Given the description of an element on the screen output the (x, y) to click on. 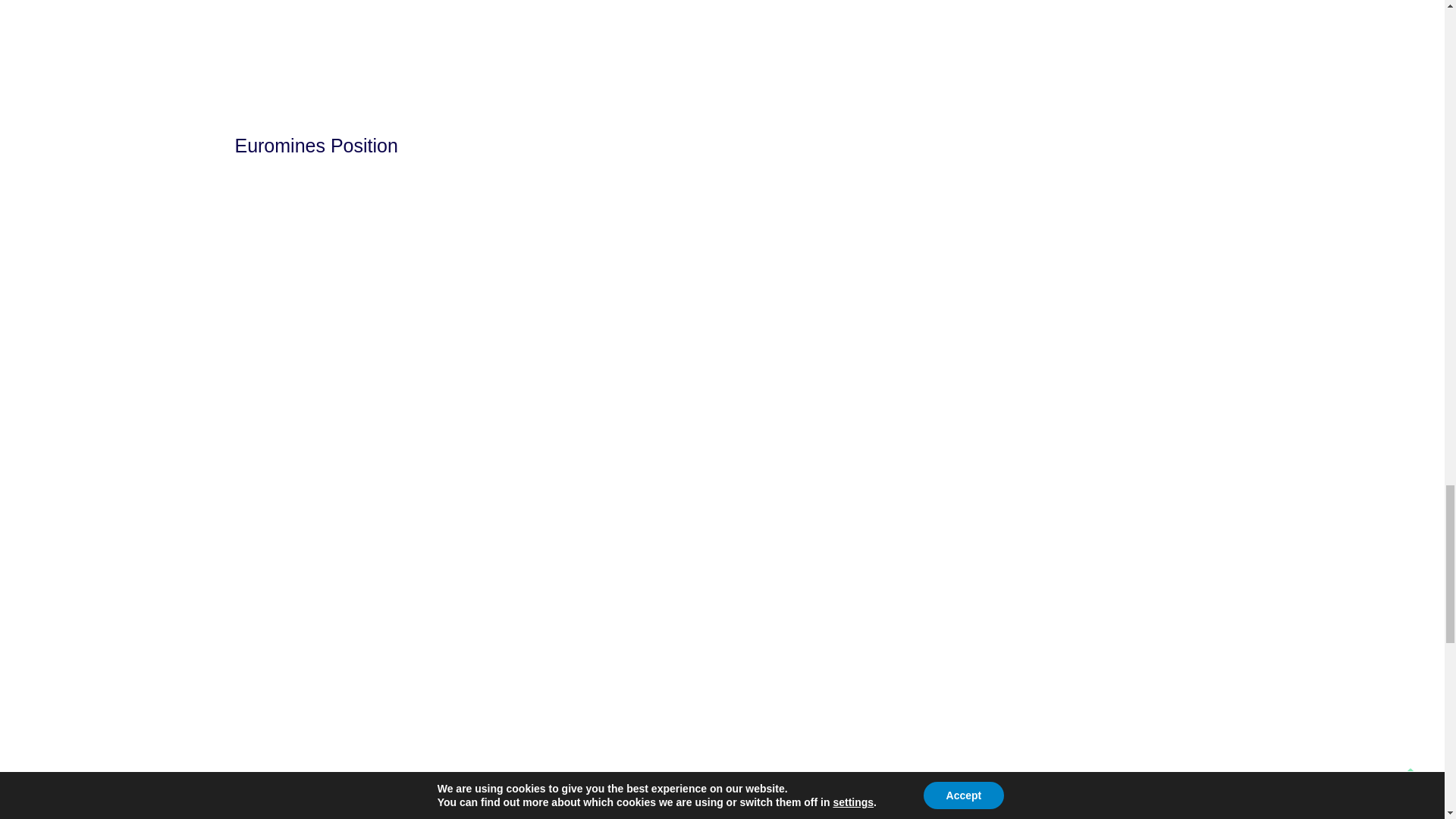
Euromines Position (315, 145)
